Given the description of an element on the screen output the (x, y) to click on. 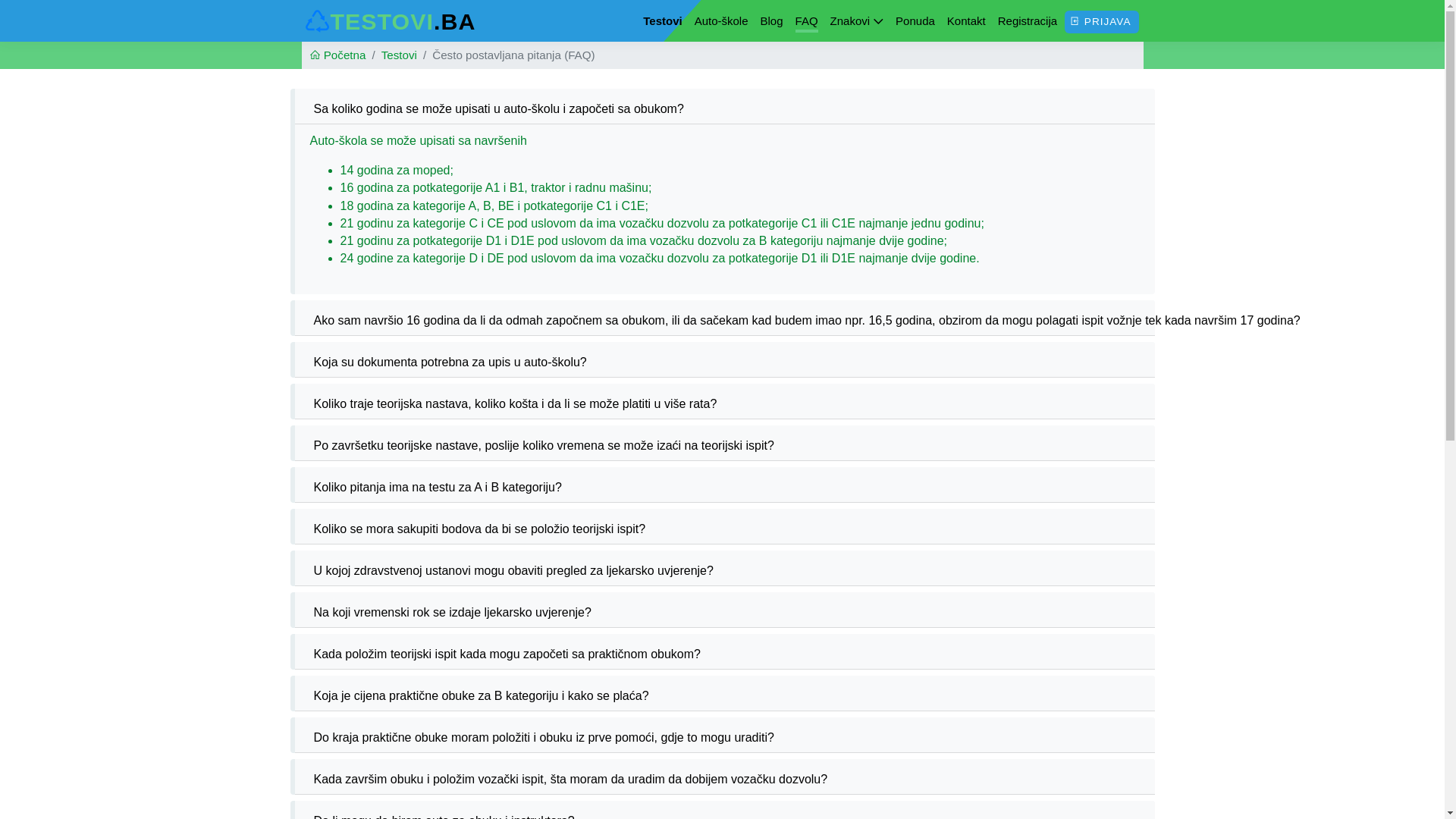
FAQ Element type: text (806, 22)
Na koji vremenski rok se izdaje ljekarsko uvjerenje? Element type: text (451, 612)
Testovi Element type: text (399, 54)
Registracija Element type: text (1027, 20)
Znakovi Element type: text (857, 20)
Kontakt Element type: text (966, 20)
Blog Element type: text (771, 20)
Testovi Element type: text (662, 20)
Koliko pitanja ima na testu za A i B kategoriju? Element type: text (437, 487)
TESTOVI.BA Element type: text (388, 21)
PRIJAVA Element type: text (1101, 21)
Ponuda Element type: text (915, 20)
